Given the description of an element on the screen output the (x, y) to click on. 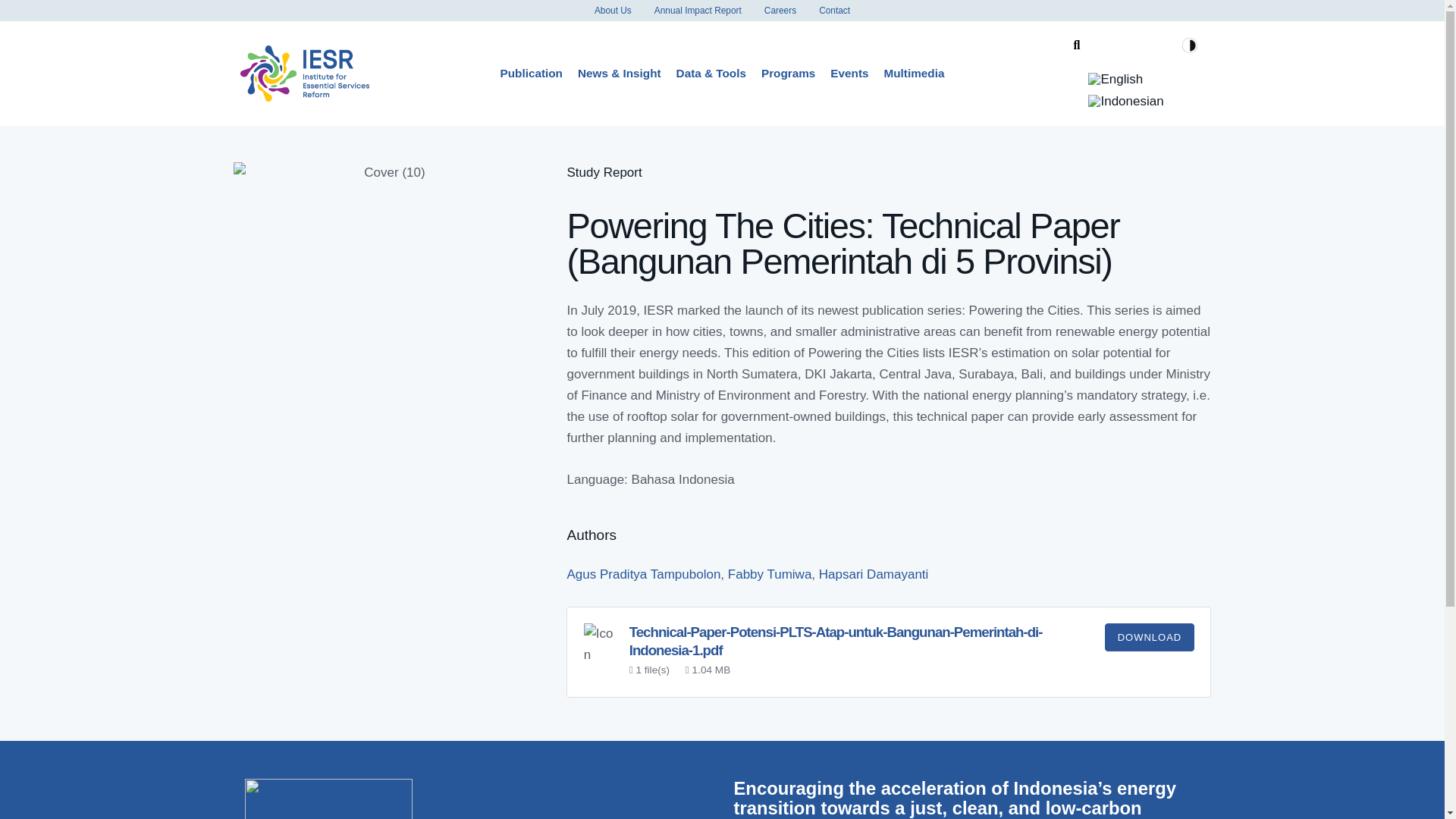
Programs (788, 73)
Hapsari Damayanti (873, 574)
Agus Praditya Tampubolon (643, 574)
Multimedia (913, 73)
Contact (834, 10)
Annual Impact Report (697, 10)
Careers (780, 10)
Fabby Tumiwa (770, 574)
Publication (532, 73)
About Us (613, 10)
